Given the description of an element on the screen output the (x, y) to click on. 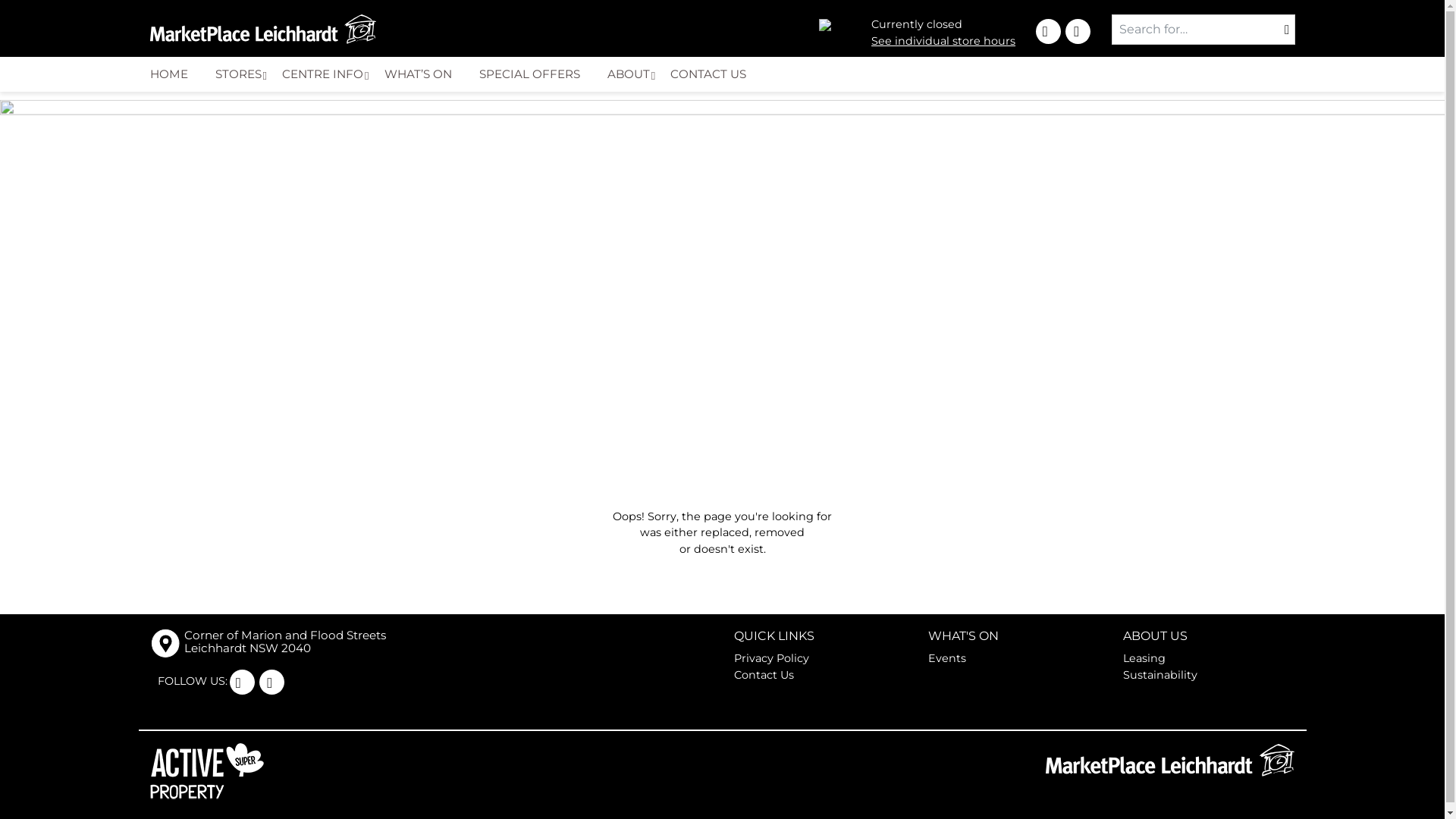
Instagram Element type: hover (241, 681)
Leasing Element type: text (1144, 658)
Privacy Policy Element type: text (771, 658)
SPECIAL OFFERS Element type: text (535, 73)
Events Element type: text (947, 658)
HOME Element type: text (174, 73)
See individual store hours Element type: text (943, 40)
STORES Element type: text (241, 73)
Facebook Element type: hover (1077, 30)
Facebook Element type: hover (271, 681)
ABOUT Element type: text (631, 73)
Instagram Element type: hover (1047, 30)
CENTRE INFO Element type: text (325, 73)
CONTACT US Element type: text (713, 73)
Sustainability Element type: text (1160, 674)
Contact Us Element type: text (763, 674)
